Given the description of an element on the screen output the (x, y) to click on. 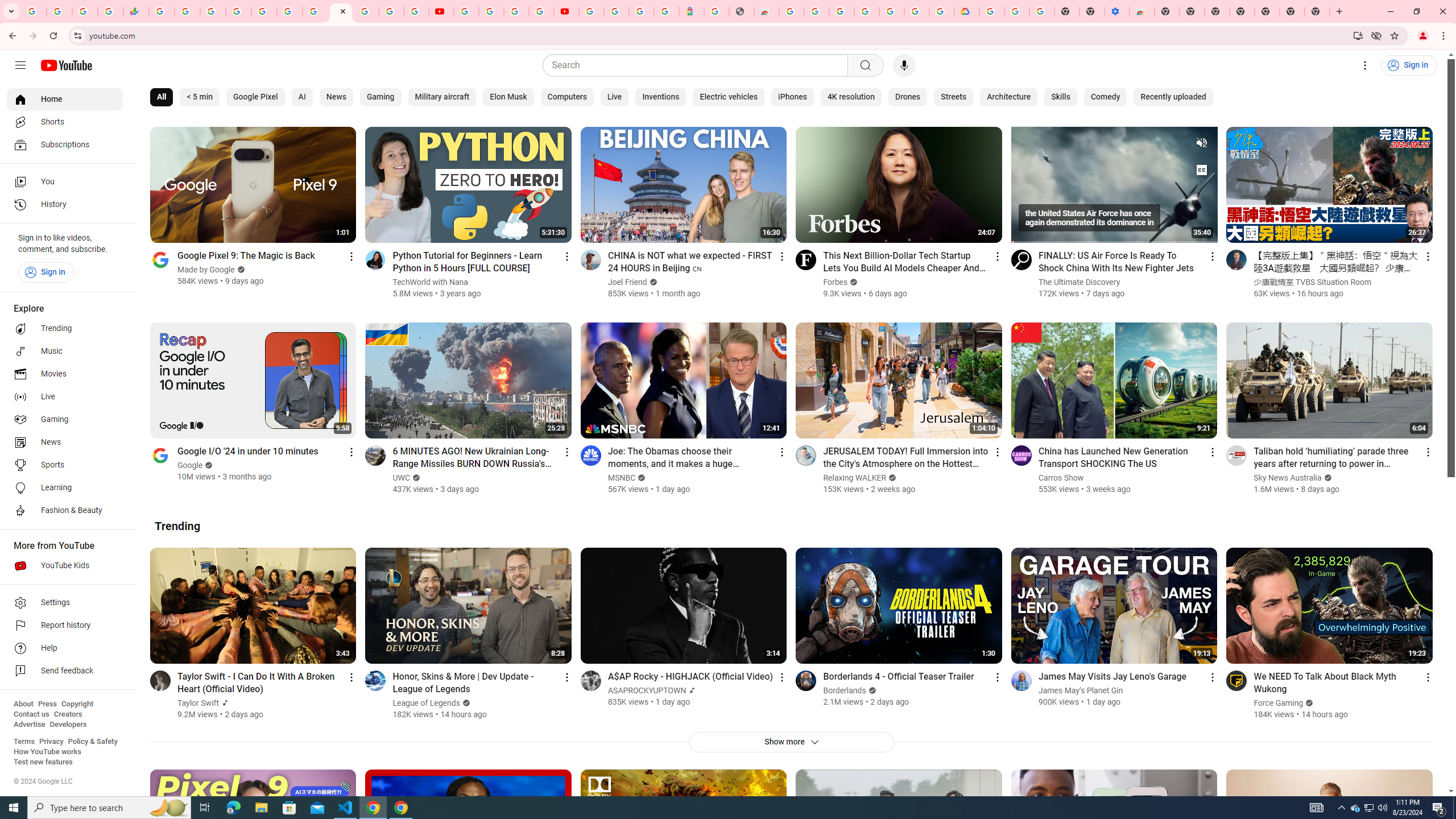
New Tab (1166, 11)
Official Artist Channel (691, 690)
Streets (953, 97)
Computers (567, 97)
Install YouTube (1358, 35)
Chrome Web Store - Accessibility extensions (1141, 11)
History (64, 204)
Sign in - Google Accounts (238, 11)
Verified (1308, 702)
